Given the description of an element on the screen output the (x, y) to click on. 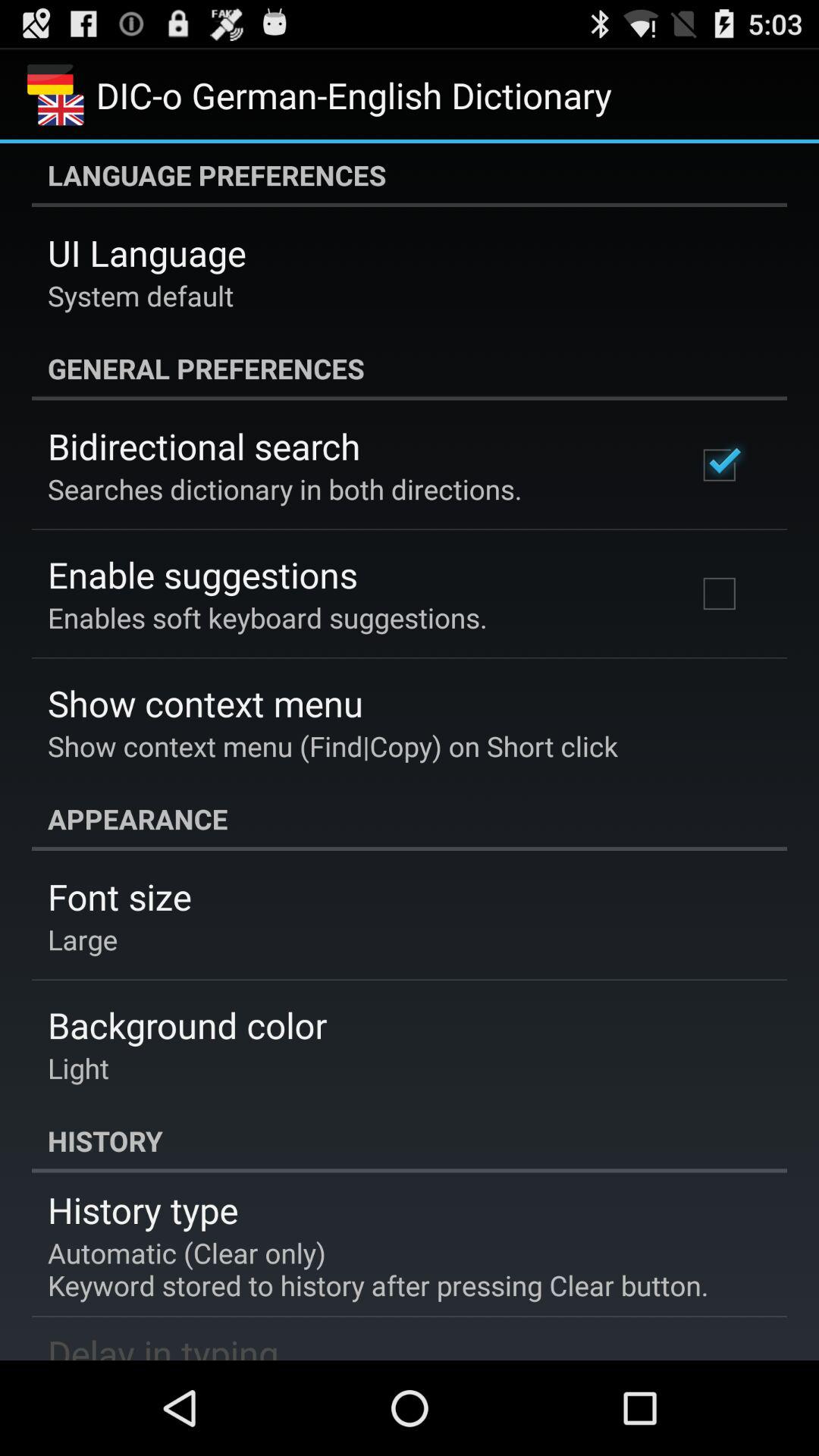
click appearance item (409, 818)
